Given the description of an element on the screen output the (x, y) to click on. 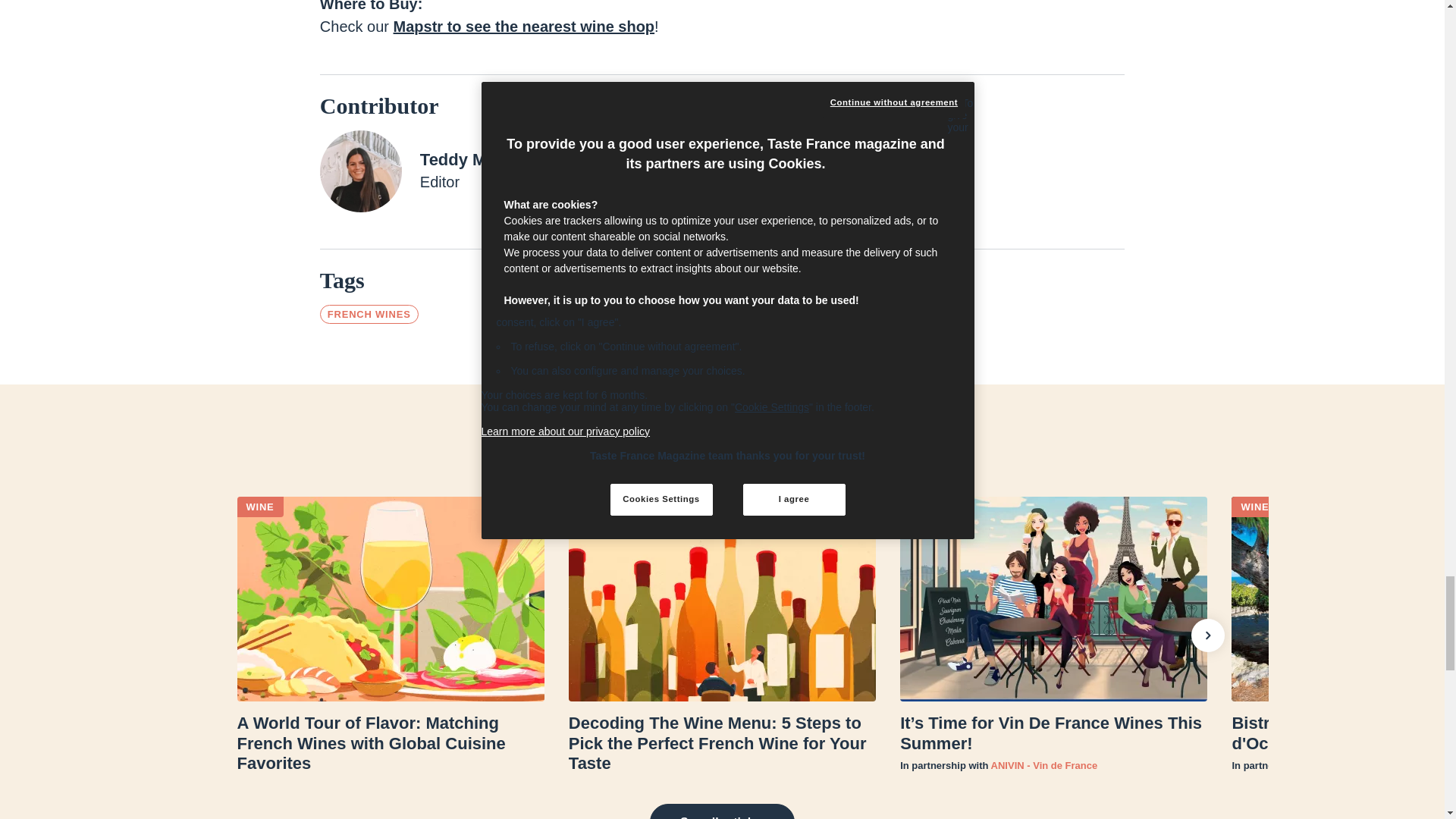
Teddy Minford (477, 160)
Mapstr to see the nearest wine shop (524, 26)
WINE (1254, 506)
WINE (591, 506)
WINE (922, 506)
See all articles (721, 811)
FRENCH WINES (369, 313)
WINE (258, 506)
